Given the description of an element on the screen output the (x, y) to click on. 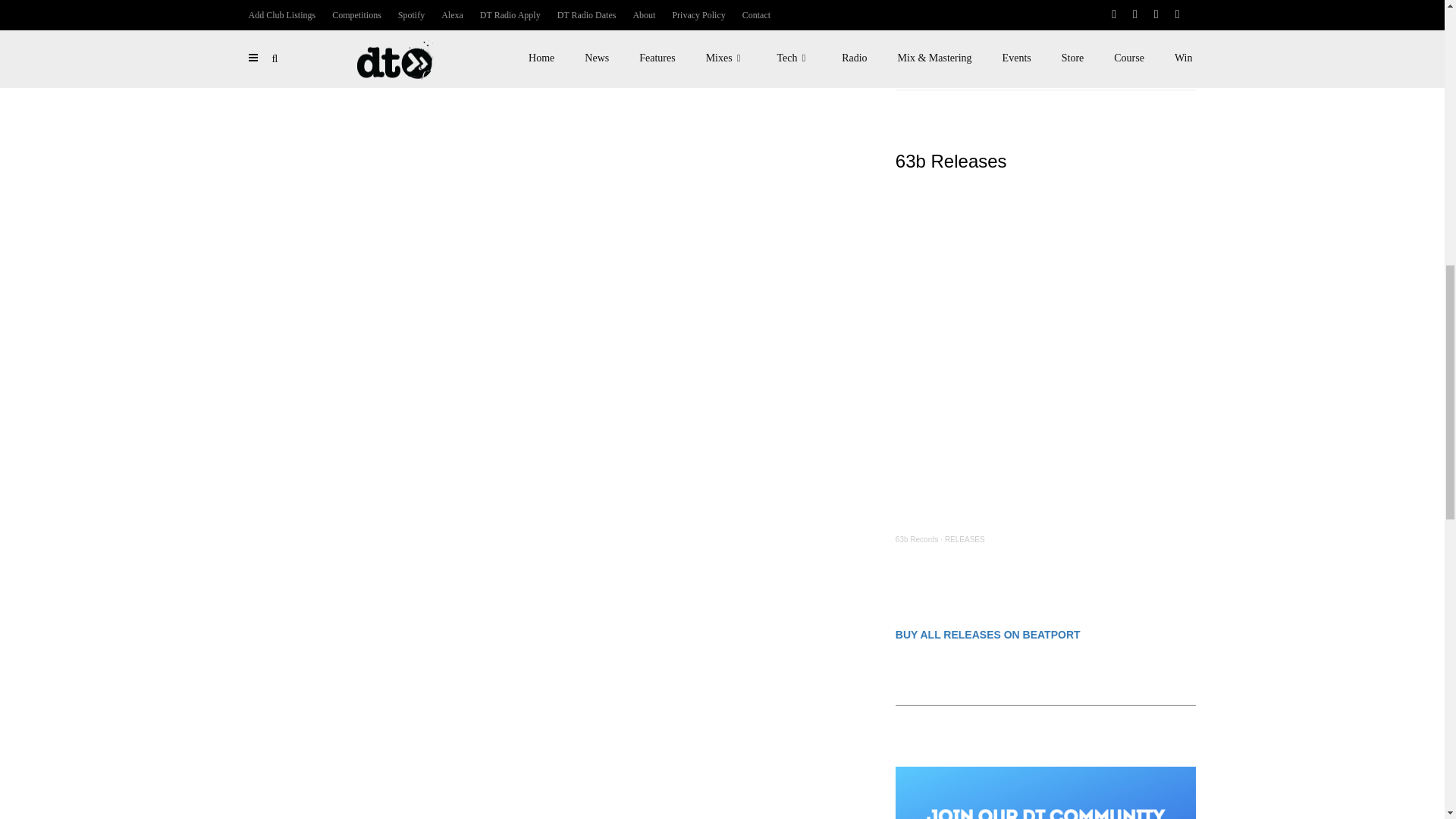
RELEASES (964, 539)
63b Records (917, 539)
Data Transmission (926, 24)
Official Releases (992, 24)
